Given the description of an element on the screen output the (x, y) to click on. 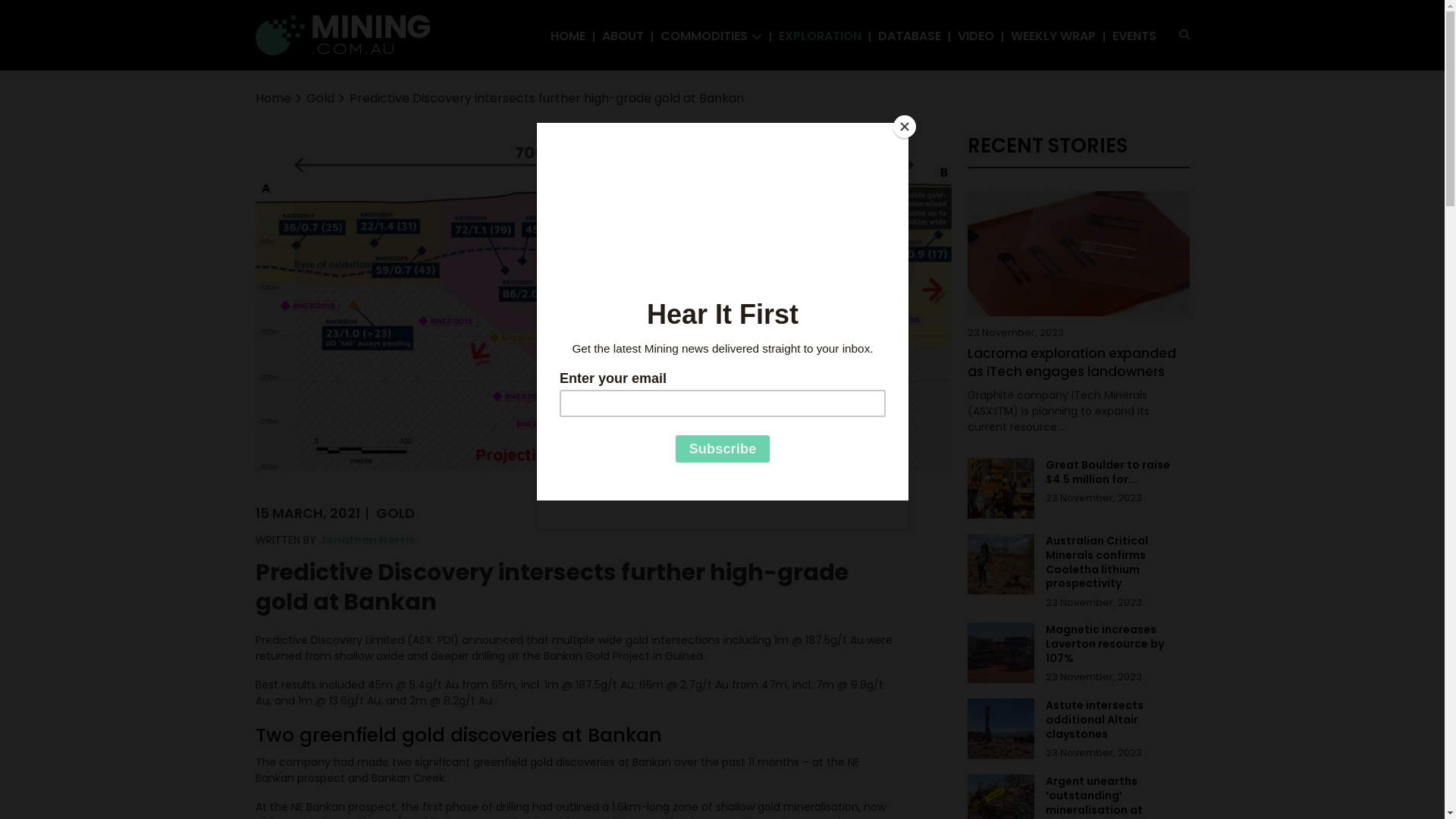
Lacroma exploration expanded as iTech engages landowners Element type: text (1078, 363)
ABOUT Element type: text (622, 36)
Home Element type: text (272, 98)
VIDEO Element type: text (975, 36)
WEEKLY WRAP Element type: text (1052, 36)
EXPLORATION Element type: text (819, 36)
HOME Element type: text (567, 36)
DATABASE Element type: text (909, 36)
Great Boulder to raise $4.5 million for... Element type: text (1117, 472)
Gold Element type: text (320, 98)
Astute intersects additional Altair claystones  Element type: text (1117, 719)
Jonathan Norris Element type: text (366, 540)
GOLD Element type: text (395, 513)
EVENTS Element type: text (1133, 36)
Magnetic increases Laverton resource by 107% Element type: text (1117, 643)
COMMODITIES Element type: text (702, 36)
Search Element type: text (1220, 68)
